Given the description of an element on the screen output the (x, y) to click on. 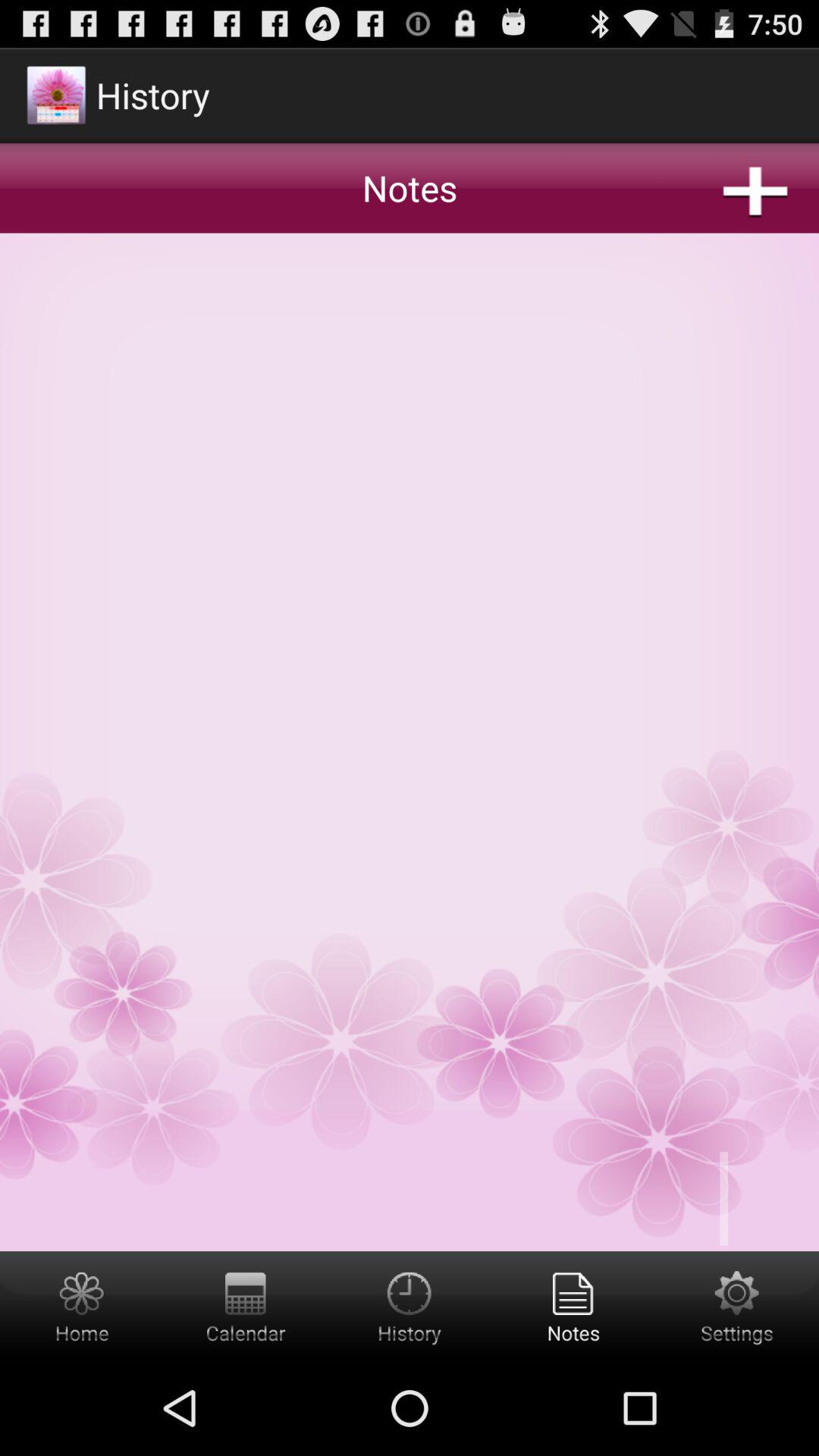
add note (409, 647)
